Given the description of an element on the screen output the (x, y) to click on. 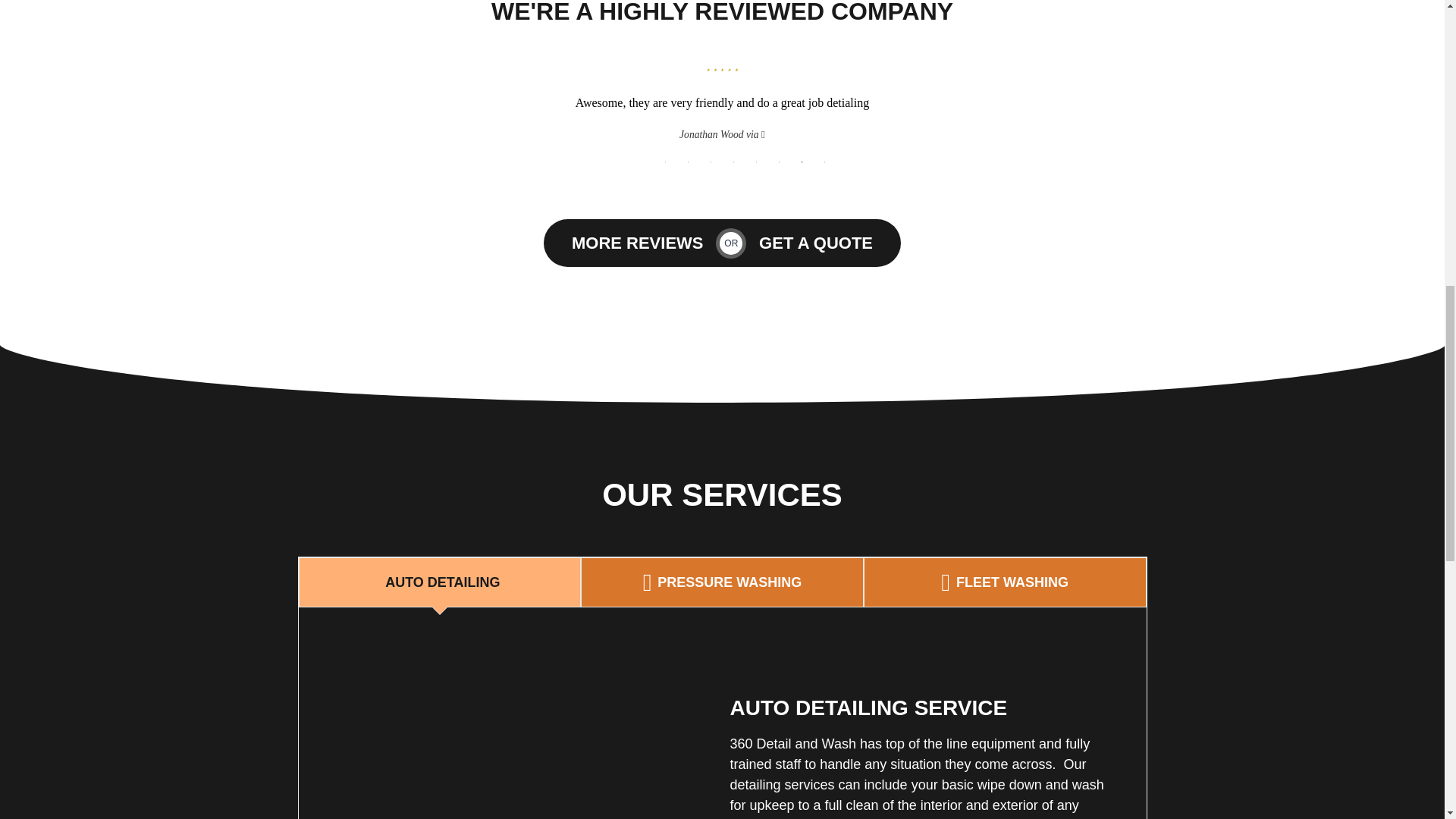
1 (665, 161)
3 (711, 161)
6 (779, 161)
Home (517, 724)
FLEET WASHING (1005, 582)
7 (801, 161)
2 (688, 161)
4 (733, 161)
8 (824, 161)
5 (756, 161)
MORE REVIEWS (636, 243)
GET A QUOTE (815, 243)
AUTO DETAILING (439, 582)
PRESSURE WASHING (721, 582)
